Given the description of an element on the screen output the (x, y) to click on. 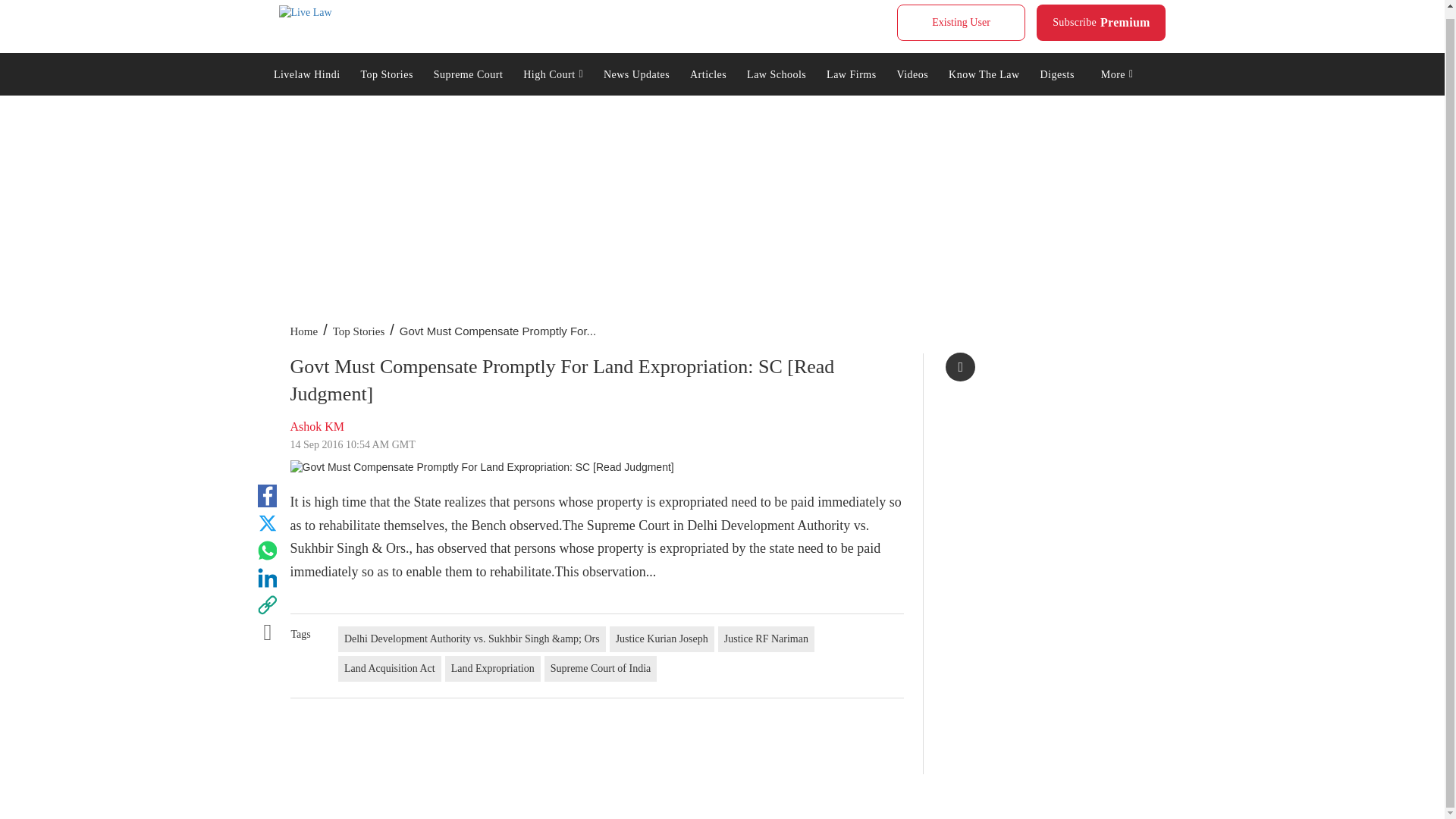
Live Law (305, 12)
Livelaw Hindi (306, 73)
Existing User (1101, 22)
Top Stories (960, 22)
Supreme Court (386, 73)
High Court (467, 73)
